Given the description of an element on the screen output the (x, y) to click on. 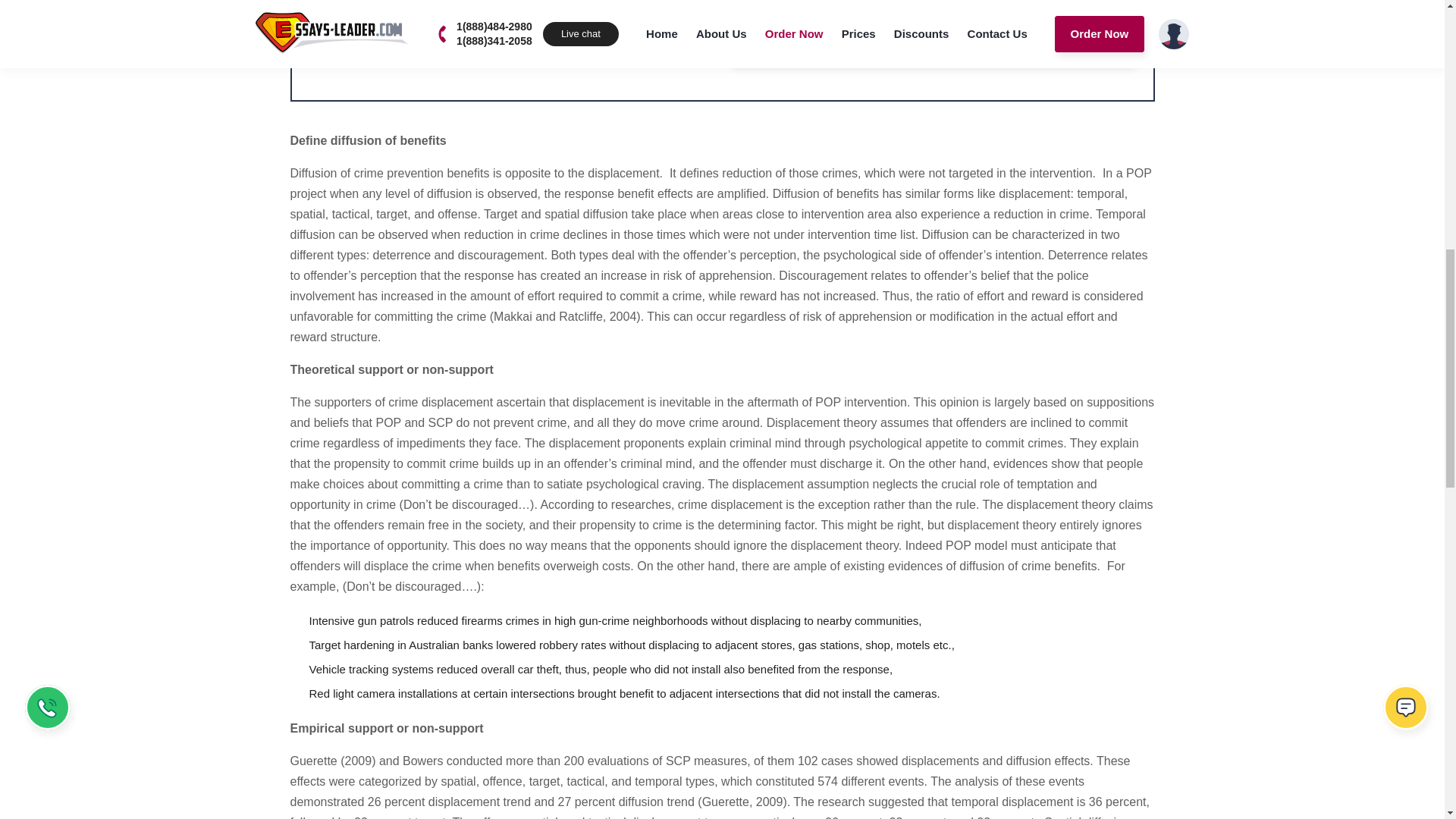
Minus (330, 47)
Plus (695, 47)
